Given the description of an element on the screen output the (x, y) to click on. 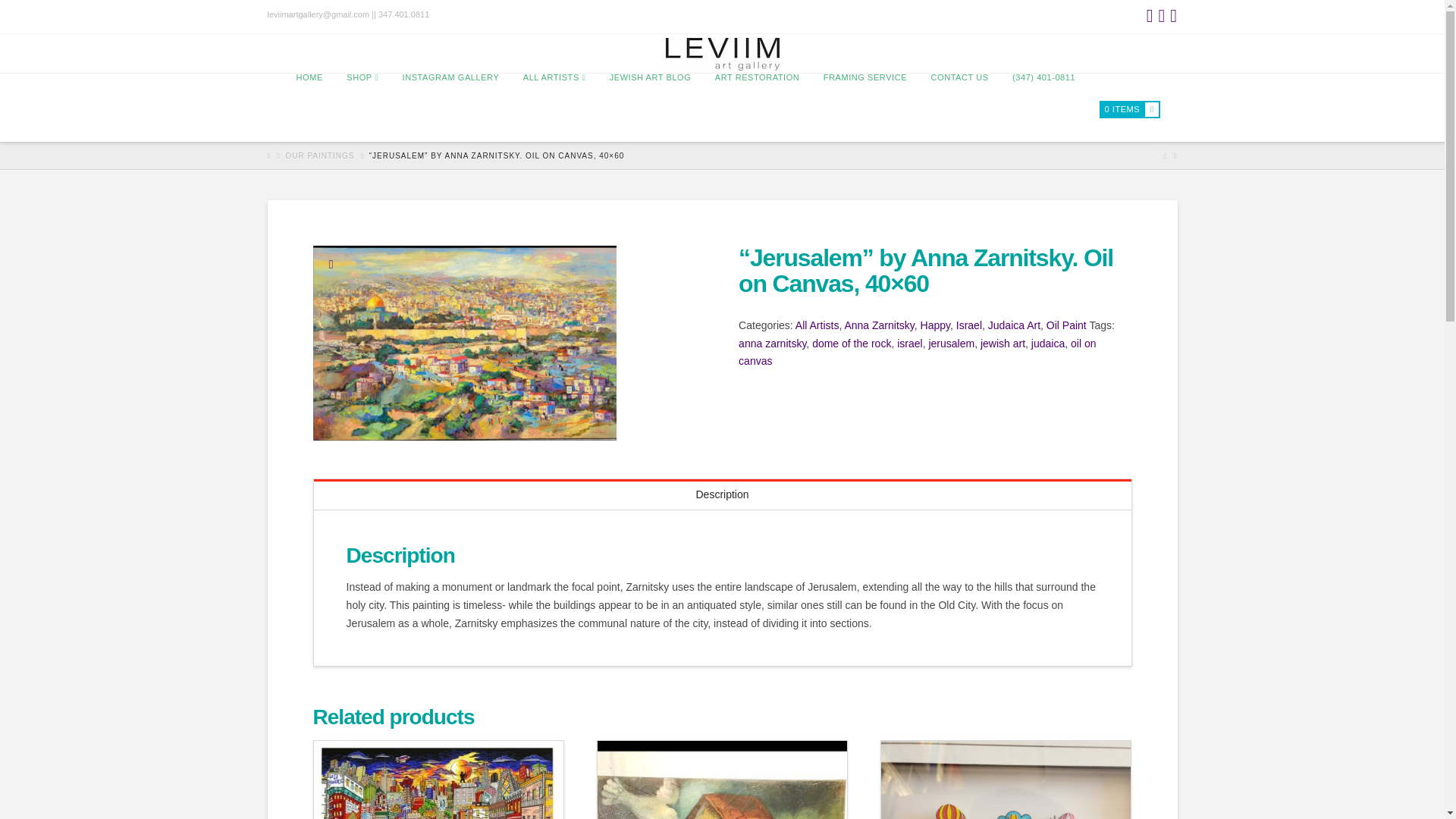
INSTAGRAM GALLERY (450, 107)
anna zarnitsky jerusalem (464, 342)
ALL ARTISTS (553, 107)
The Judaica Art Gallery of Brooklyn (721, 53)
